Given the description of an element on the screen output the (x, y) to click on. 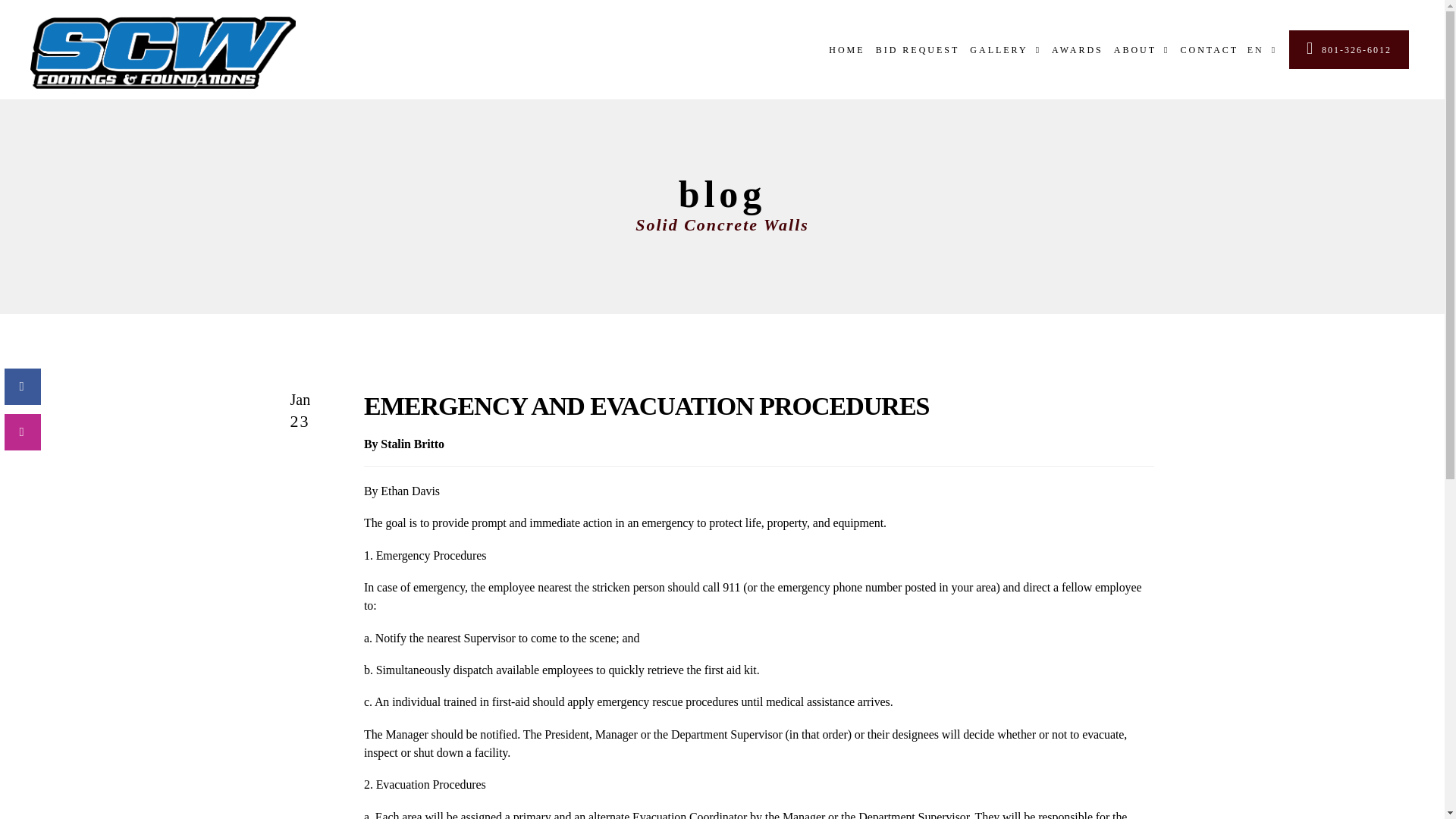
BID REQUEST (917, 48)
AWARDS (1077, 48)
ABOUT (1141, 48)
Facebook (22, 386)
GALLERY (1005, 48)
CONTACT (1209, 48)
Instagram (22, 432)
HOME (846, 48)
